Given the description of an element on the screen output the (x, y) to click on. 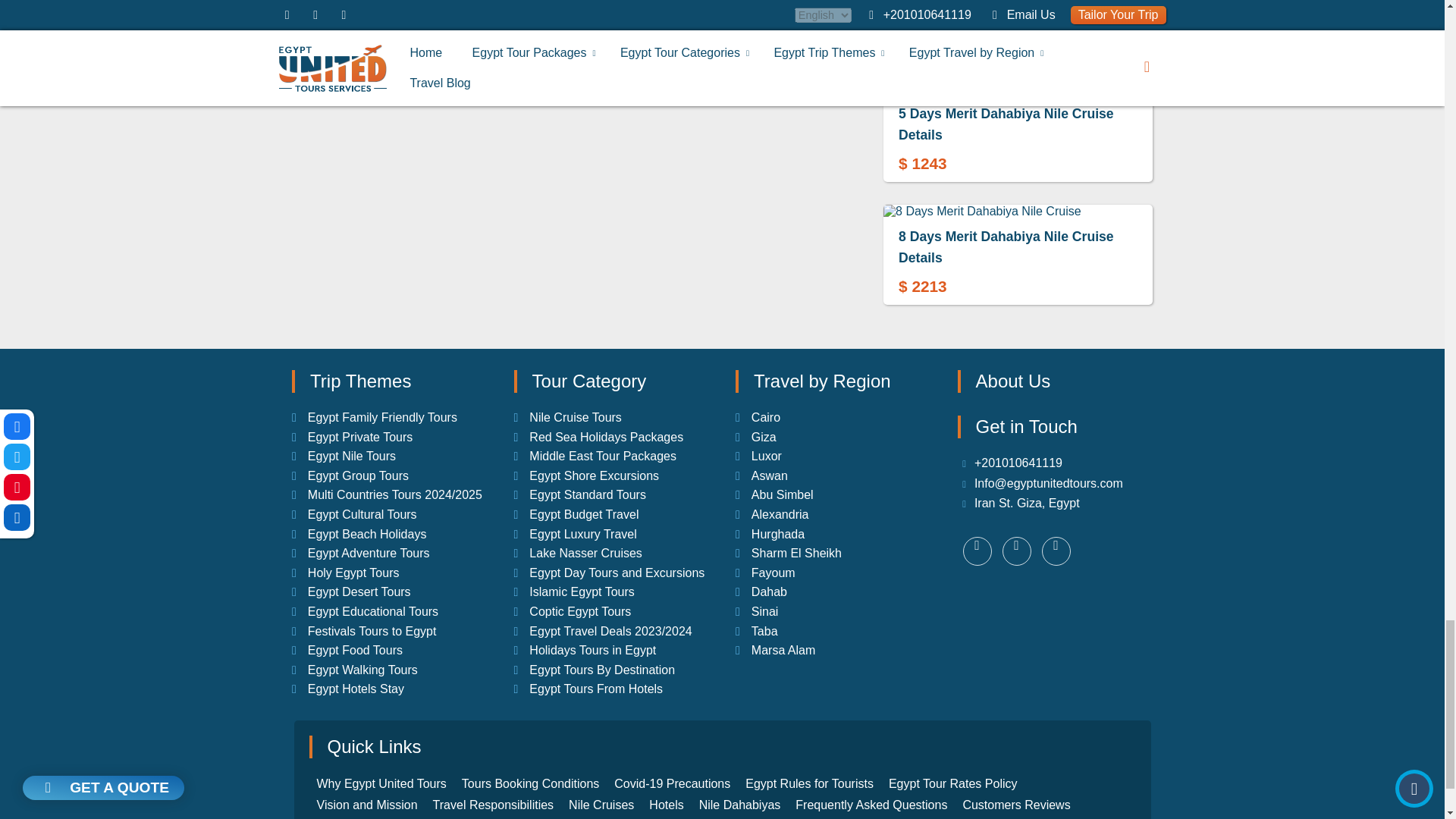
youtube (976, 551)
facebook (1056, 551)
twitter (1016, 551)
